Given the description of an element on the screen output the (x, y) to click on. 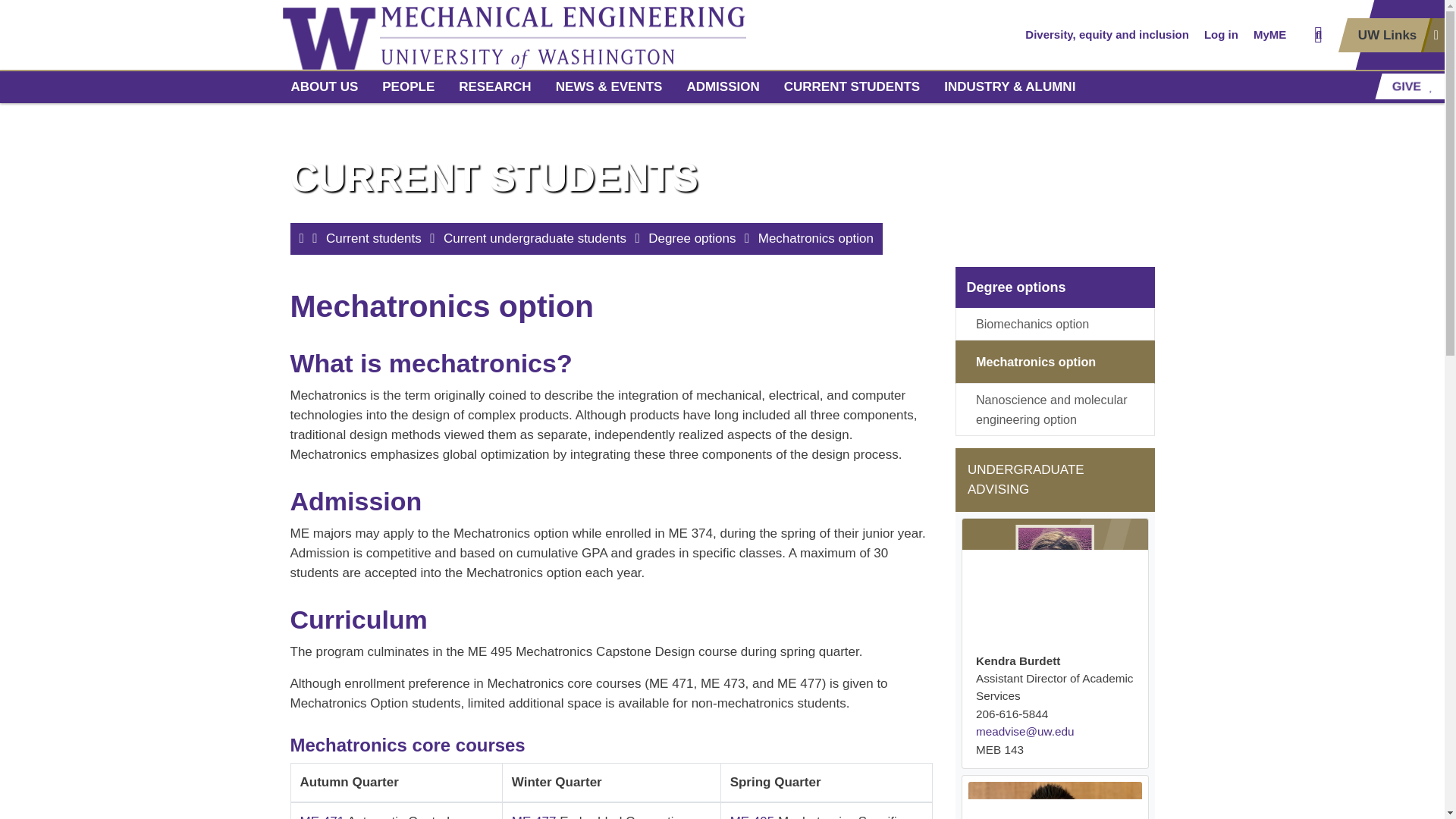
Wordmark Logo (561, 34)
UW W Logo (328, 34)
Log in (1221, 34)
ABOUT US (325, 87)
Mechanical Engineering (561, 34)
Diversity, equity and inclusion (1107, 34)
MyME (1269, 34)
UW Links (1391, 35)
University of Washington Home (328, 34)
PEOPLE (407, 87)
